Given the description of an element on the screen output the (x, y) to click on. 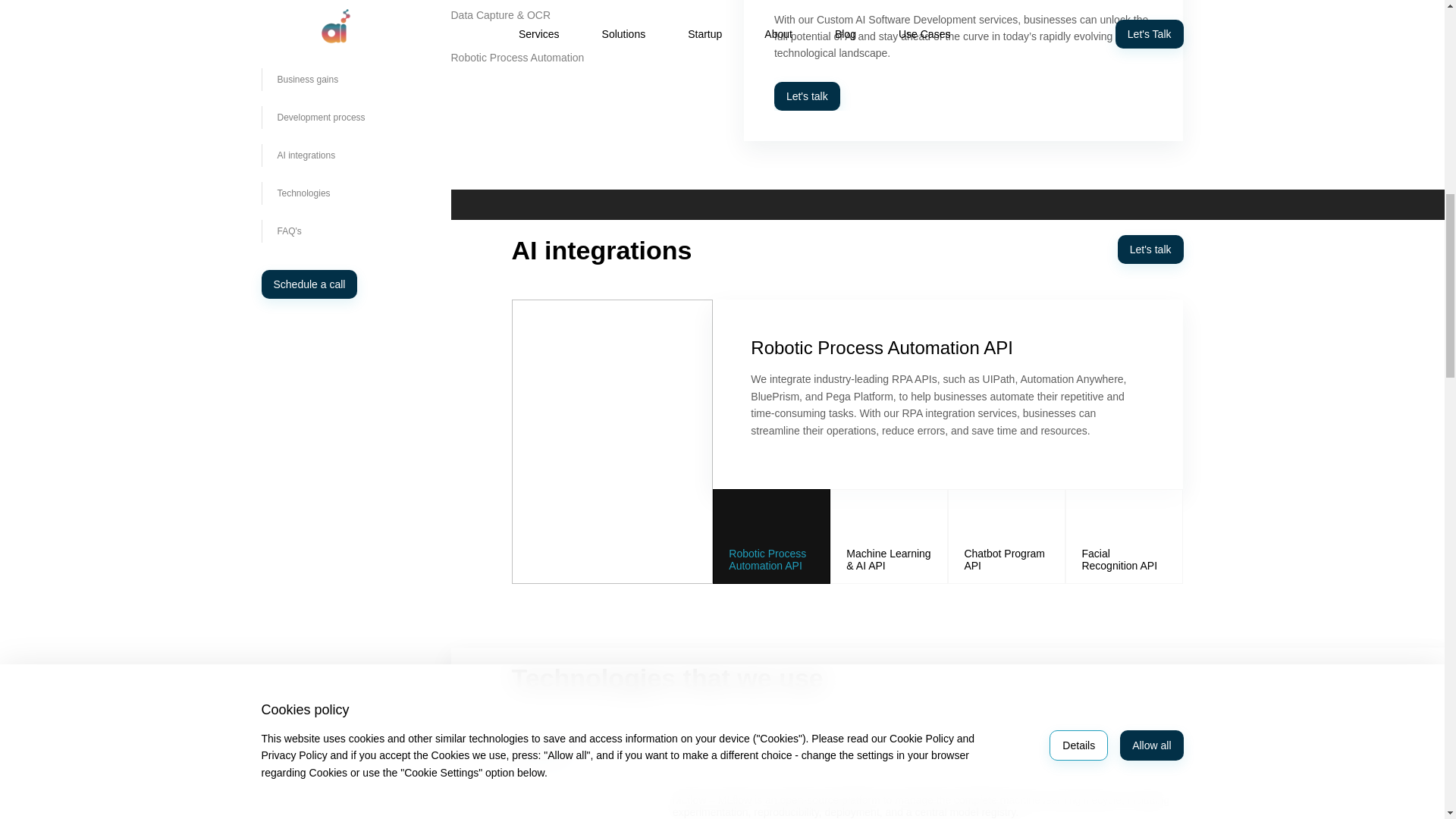
read more (1292, 176)
